Given the description of an element on the screen output the (x, y) to click on. 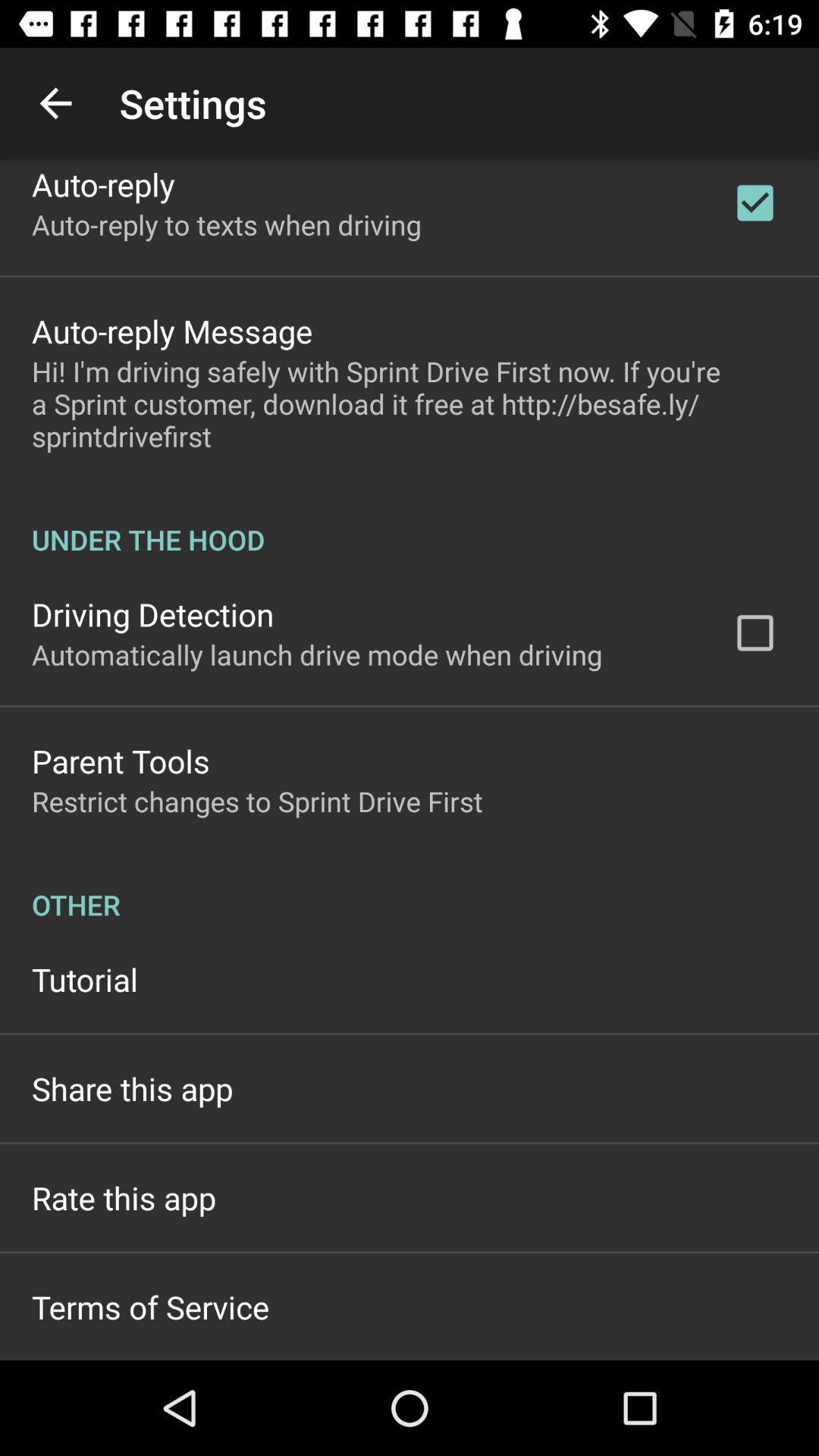
open the item above automatically launch drive item (152, 613)
